Given the description of an element on the screen output the (x, y) to click on. 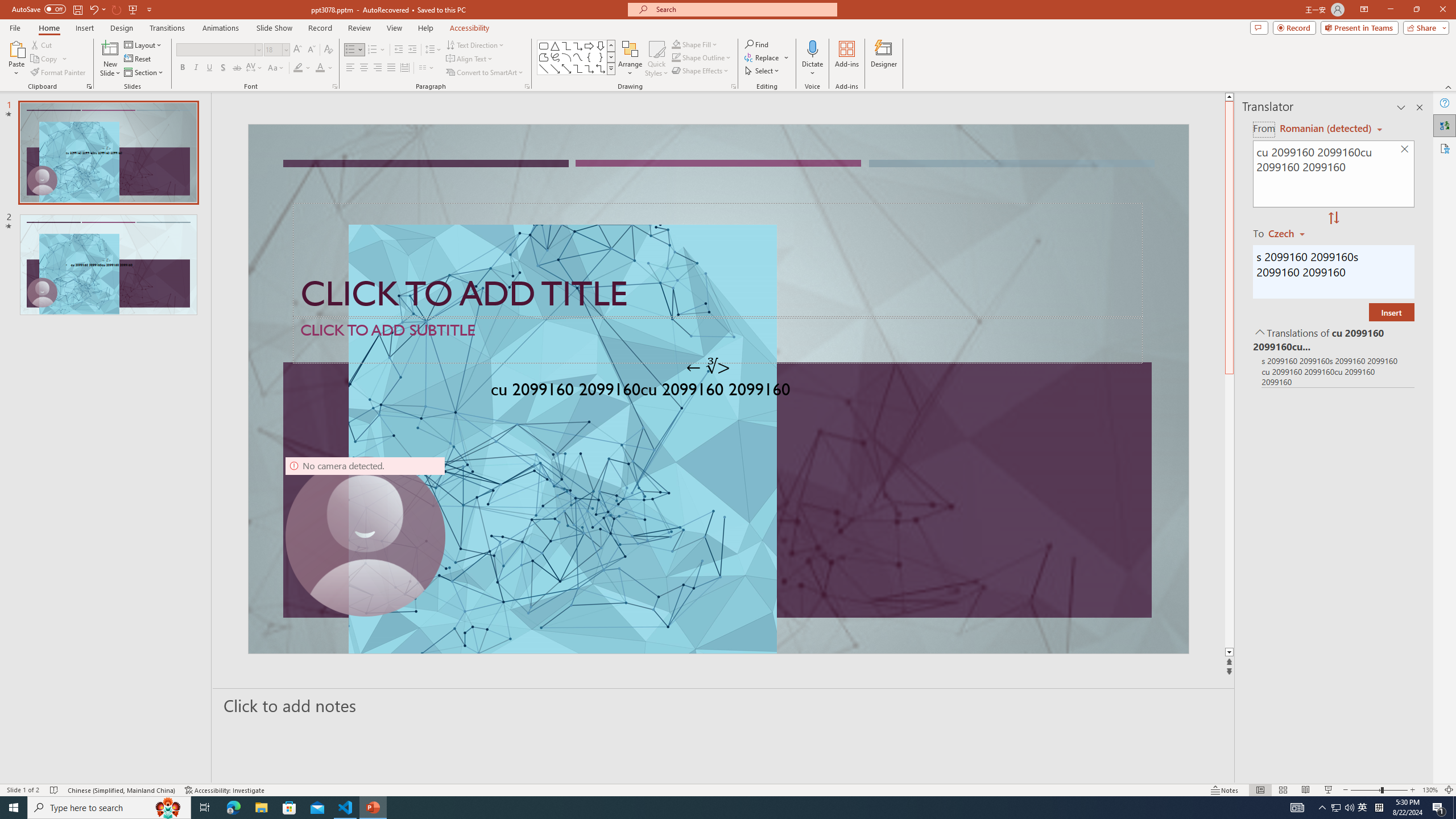
Justify (390, 67)
Find... (756, 44)
Row Down (611, 56)
Text Direction (476, 44)
Clear Formatting (327, 49)
Reset (138, 58)
Decrease Indent (398, 49)
Slide Notes (724, 705)
Section (144, 72)
Accessibility (1444, 147)
